Given the description of an element on the screen output the (x, y) to click on. 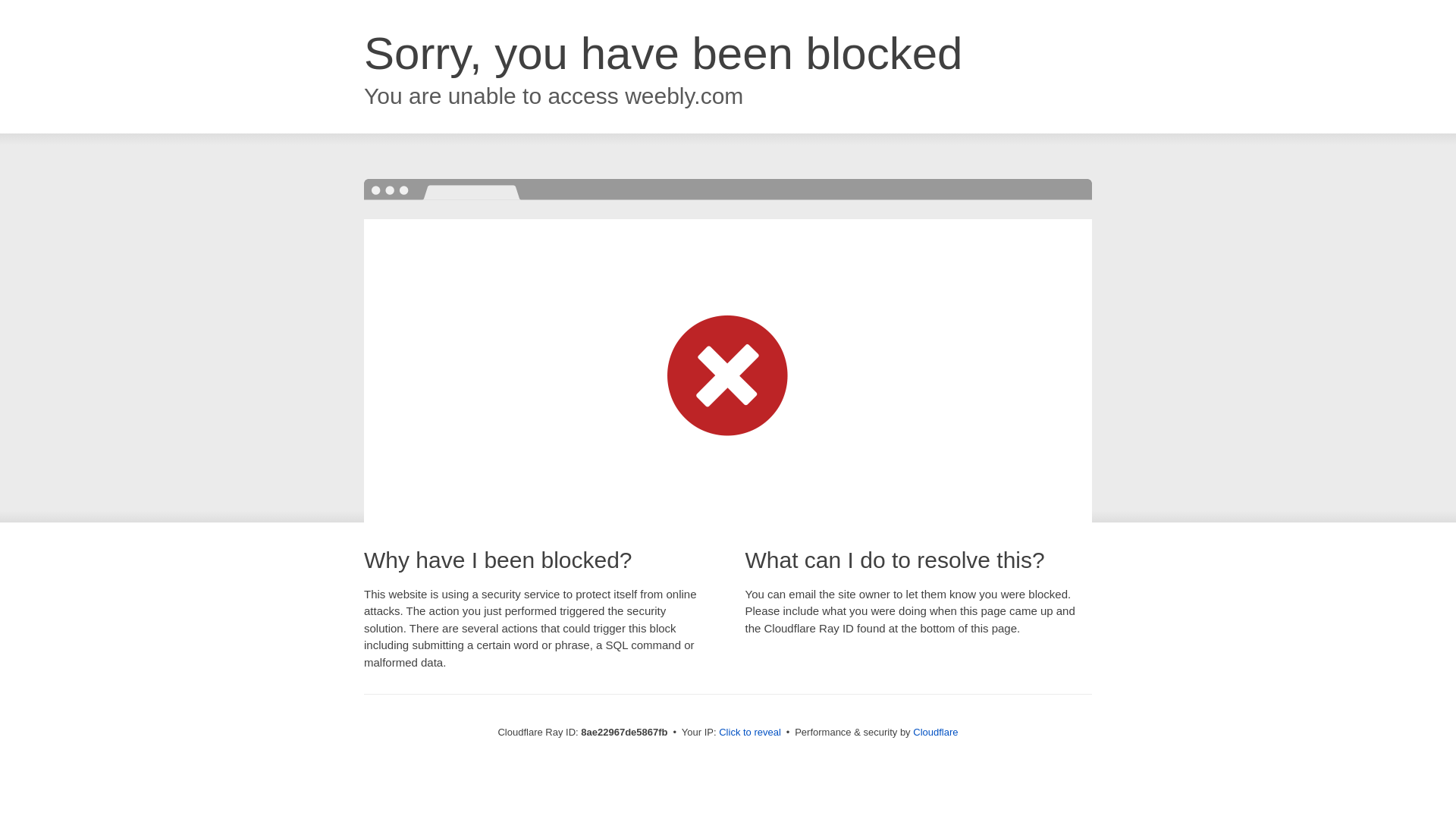
Click to reveal (749, 732)
Cloudflare (935, 731)
